Given the description of an element on the screen output the (x, y) to click on. 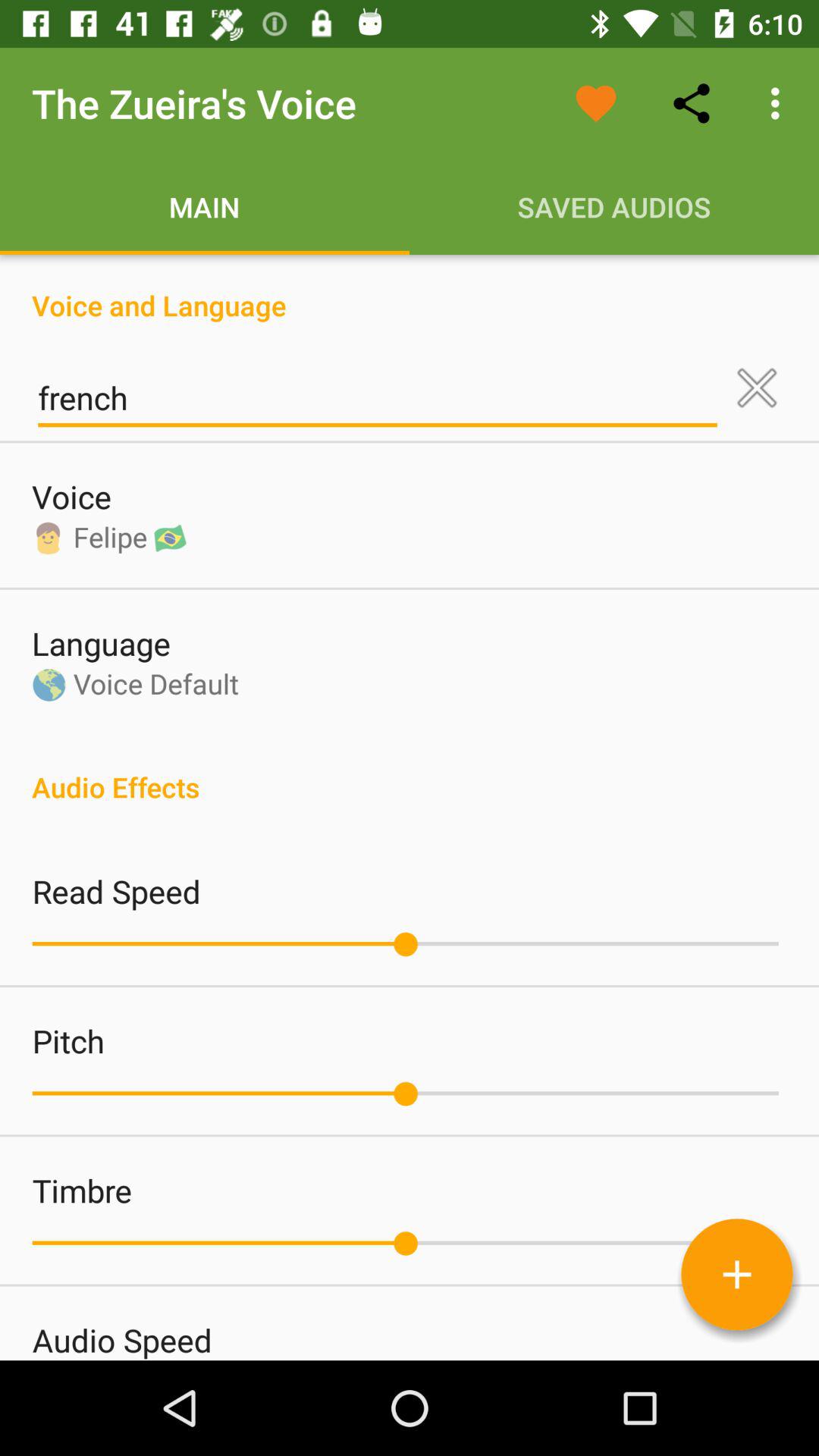
choose icon above the audio effects (756, 387)
